Given the description of an element on the screen output the (x, y) to click on. 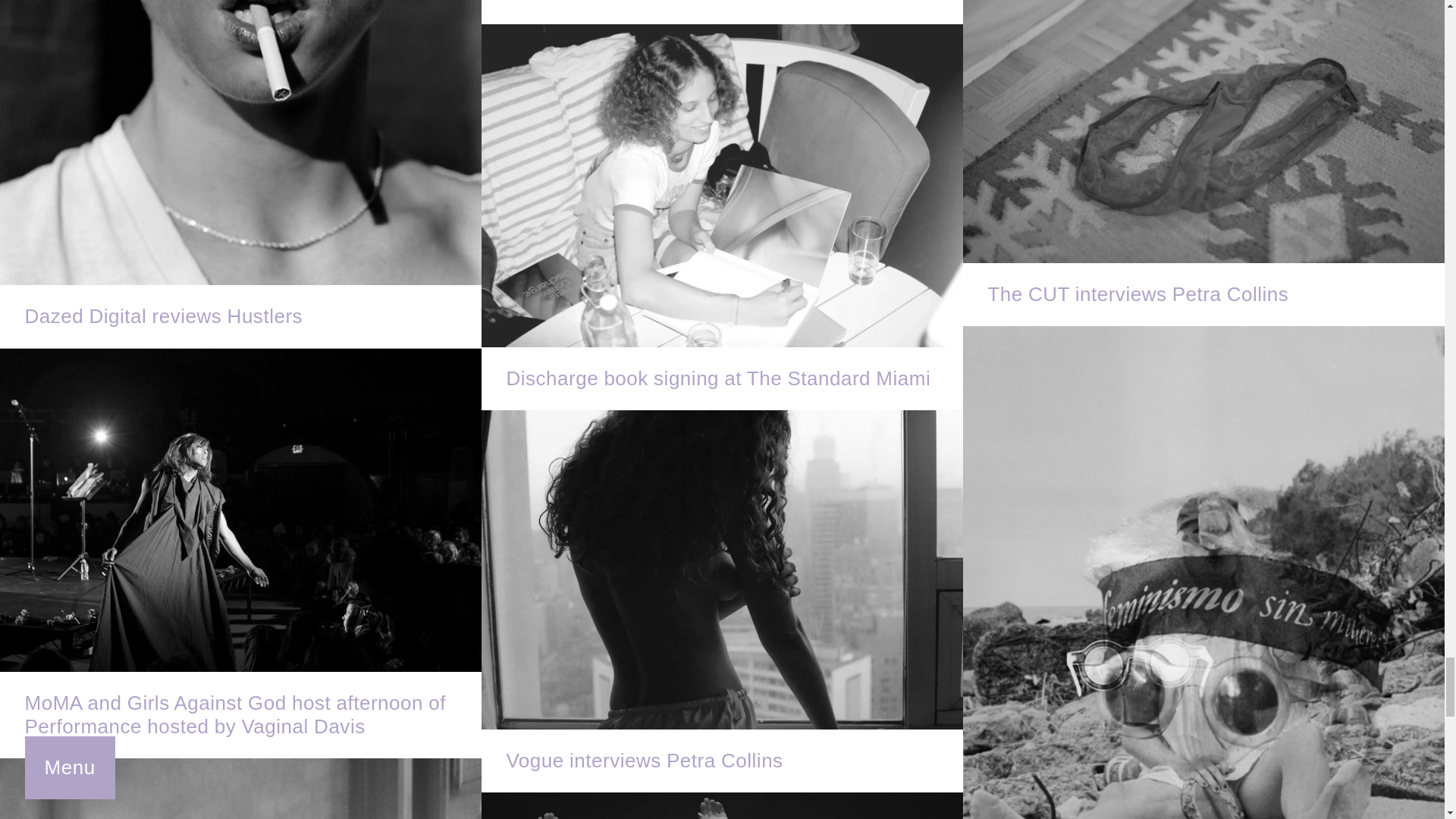
i-D features Caitlin Teal Price (721, 12)
